Given the description of an element on the screen output the (x, y) to click on. 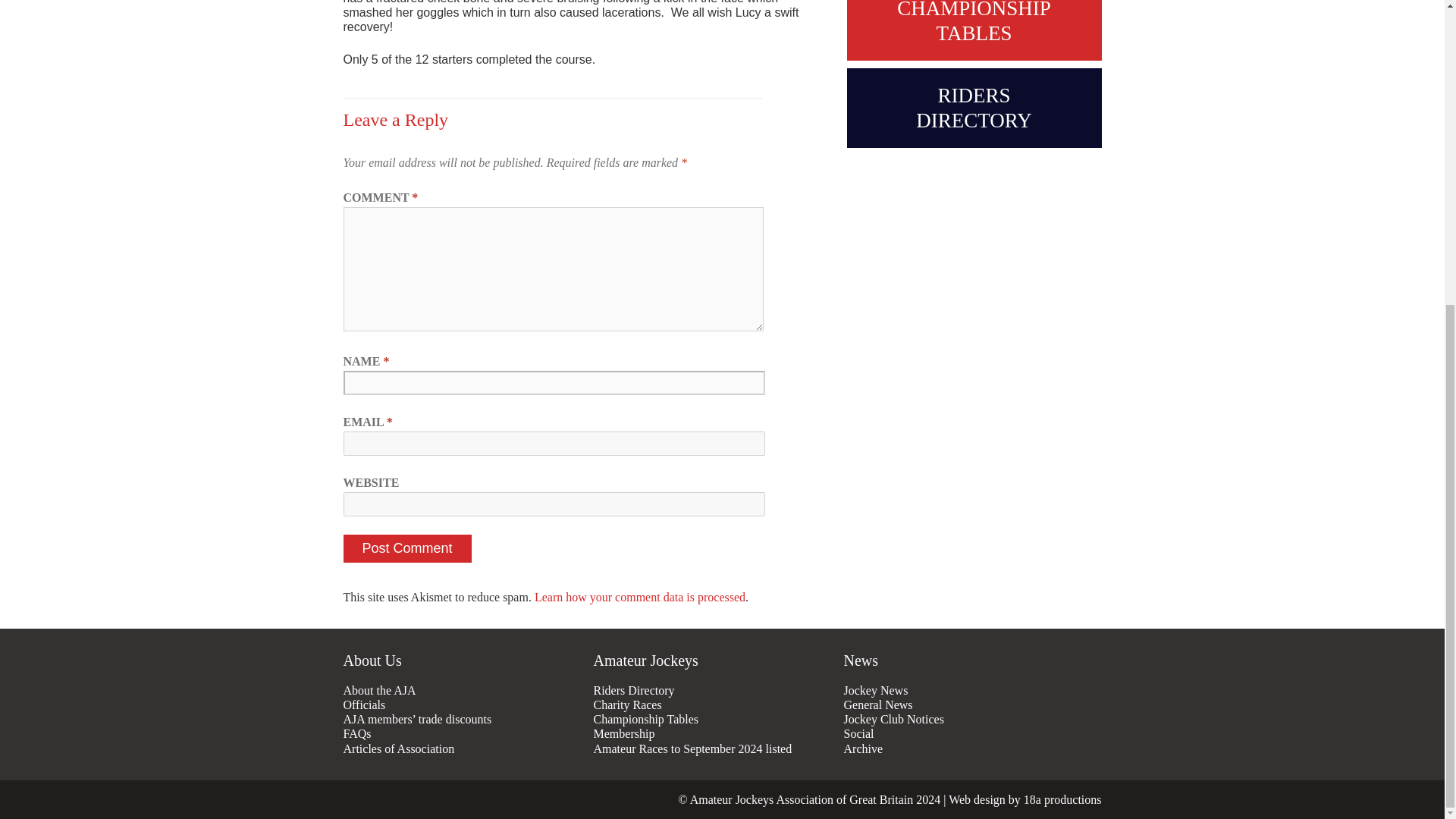
Post Comment (406, 548)
Charity Races (713, 704)
Social (964, 733)
Post Comment (406, 548)
Web design by 18a productions (1024, 799)
Jockey News (964, 690)
FAQs (463, 733)
CHAMPIONSHIP TABLES (972, 30)
Learn how your comment data is processed (639, 596)
Officials (463, 704)
